Given the description of an element on the screen output the (x, y) to click on. 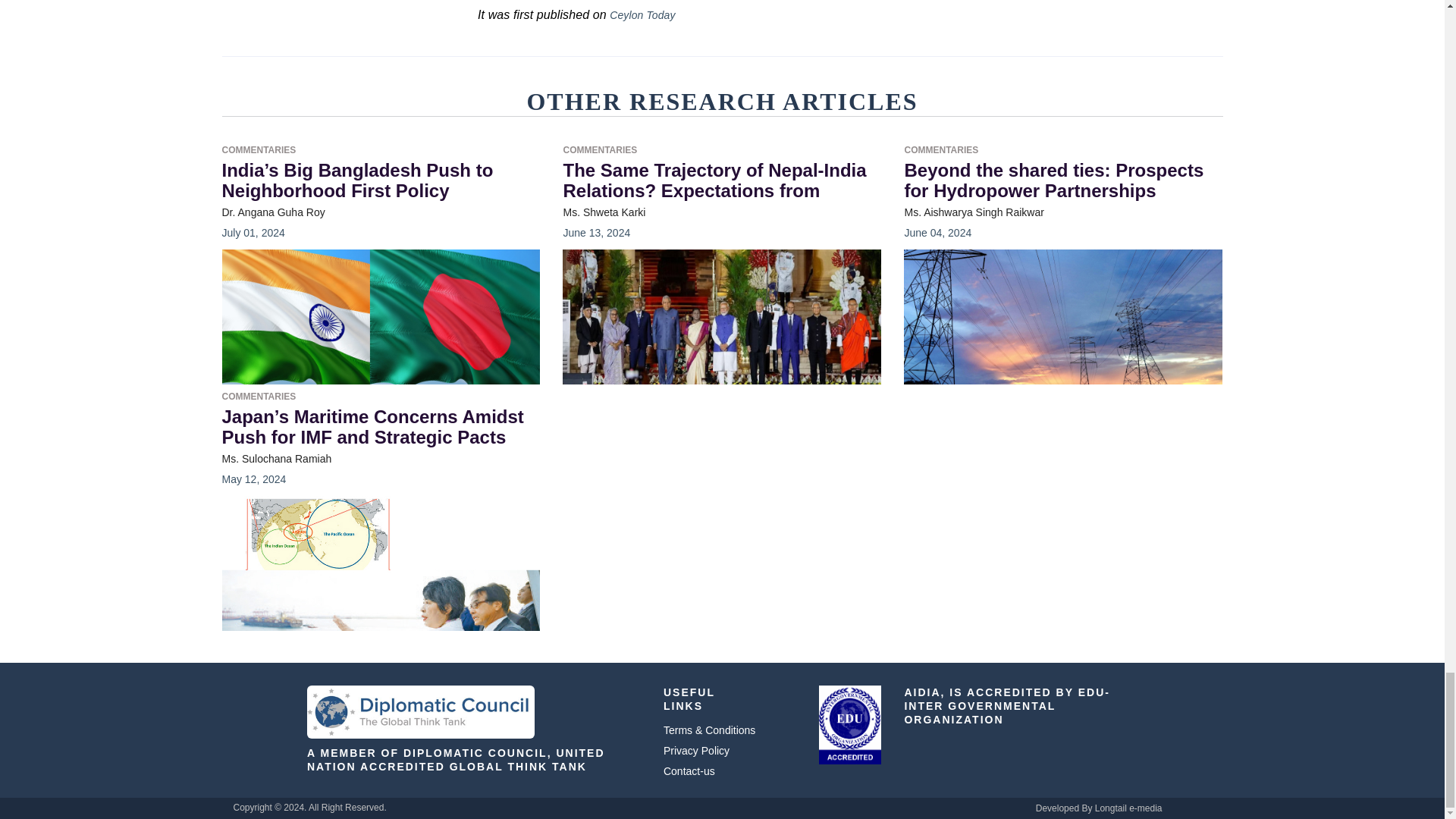
AIDIA is a member of Diplomatic Council (420, 711)
